Given the description of an element on the screen output the (x, y) to click on. 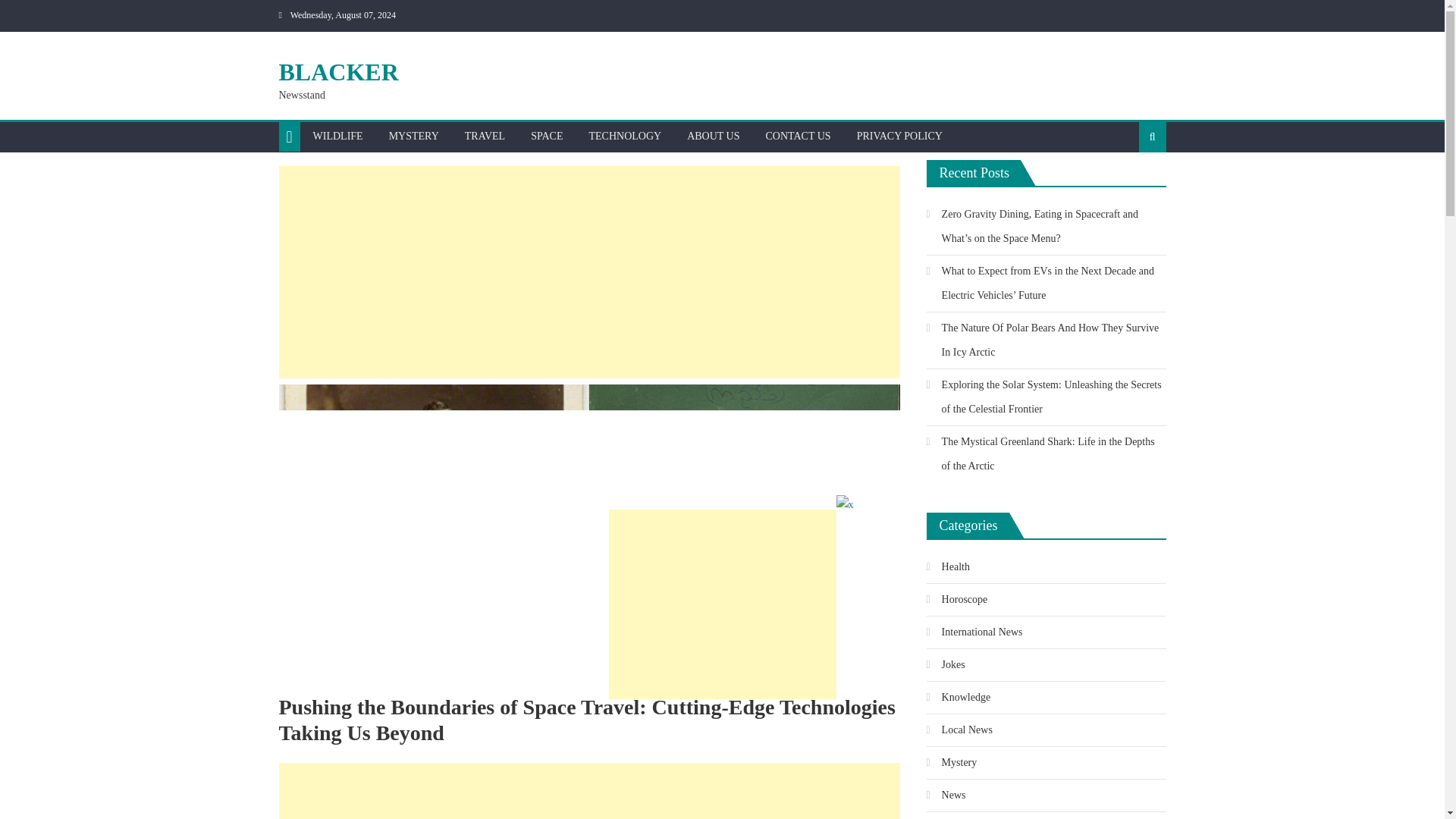
WILDLIFE (337, 136)
MYSTERY (413, 136)
Advertisement (589, 790)
Reading (951, 817)
ABOUT US (713, 136)
CONTACT US (798, 136)
Horoscope (957, 599)
TRAVEL (484, 136)
News (946, 794)
